Given the description of an element on the screen output the (x, y) to click on. 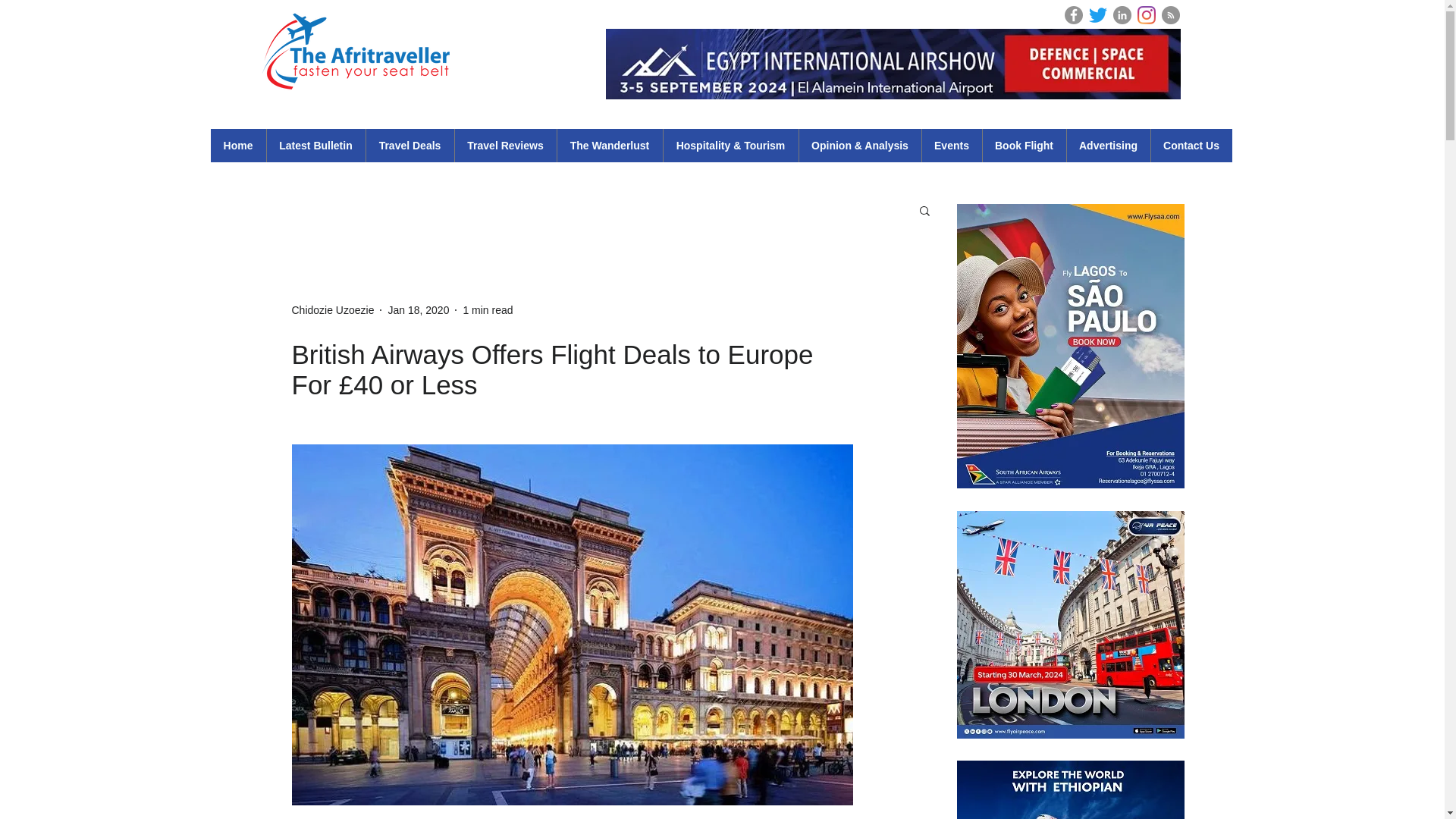
Chidozie Uzoezie (332, 309)
Login (1201, 13)
Book Flight (1023, 145)
Latest Bulletin (314, 145)
Travel Reviews (504, 145)
Home (238, 145)
The Wanderlust (609, 145)
Events (950, 145)
1 min read (487, 309)
Advertising (1107, 145)
Jan 18, 2020 (417, 309)
Contact Us (1190, 145)
Travel Deals (409, 145)
